Given the description of an element on the screen output the (x, y) to click on. 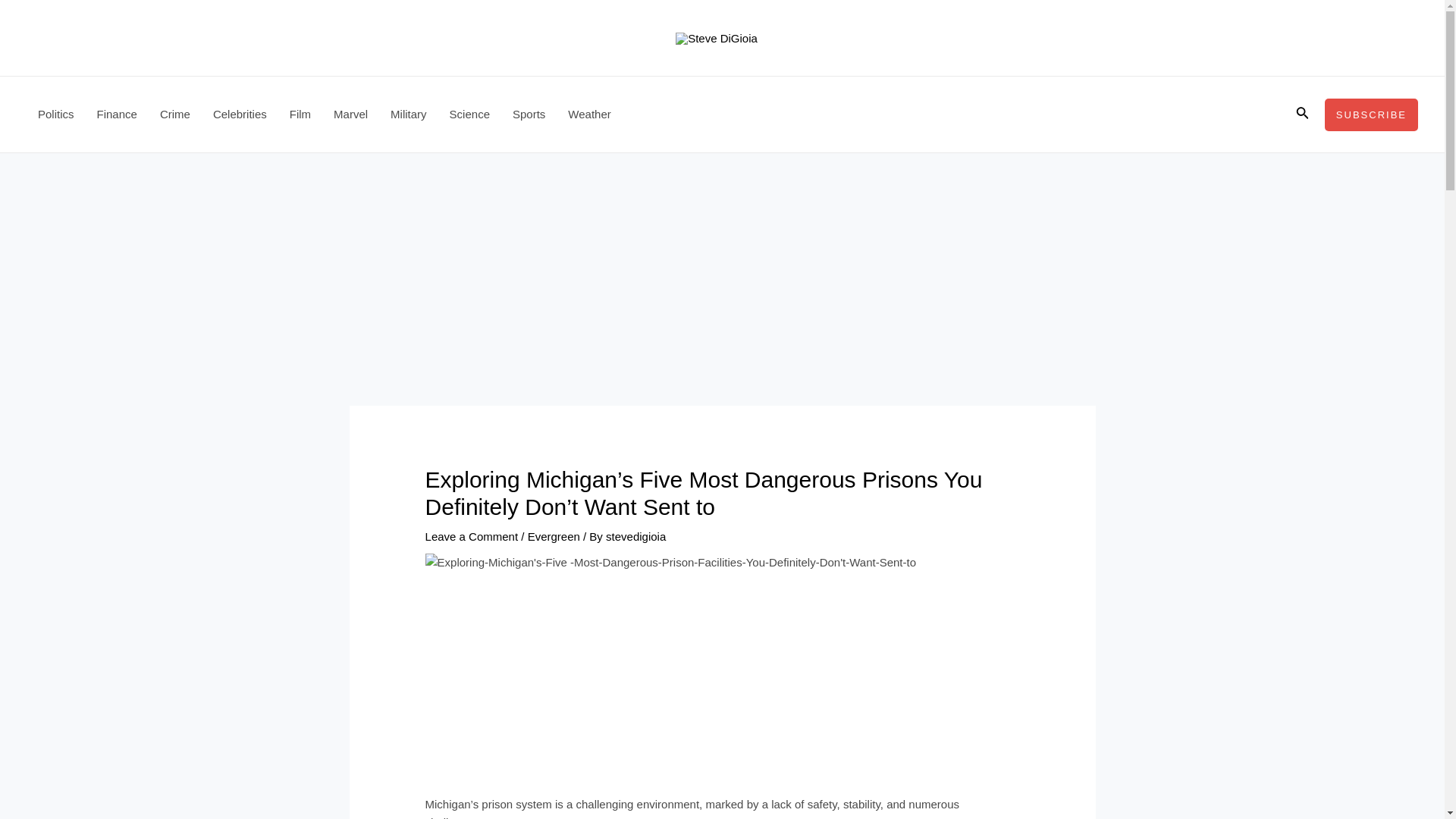
stevedigioia (635, 535)
SUBSCRIBE (1371, 114)
Leave a Comment (471, 535)
Evergreen (553, 535)
Celebrities (240, 114)
View all posts by stevedigioia (635, 535)
